Given the description of an element on the screen output the (x, y) to click on. 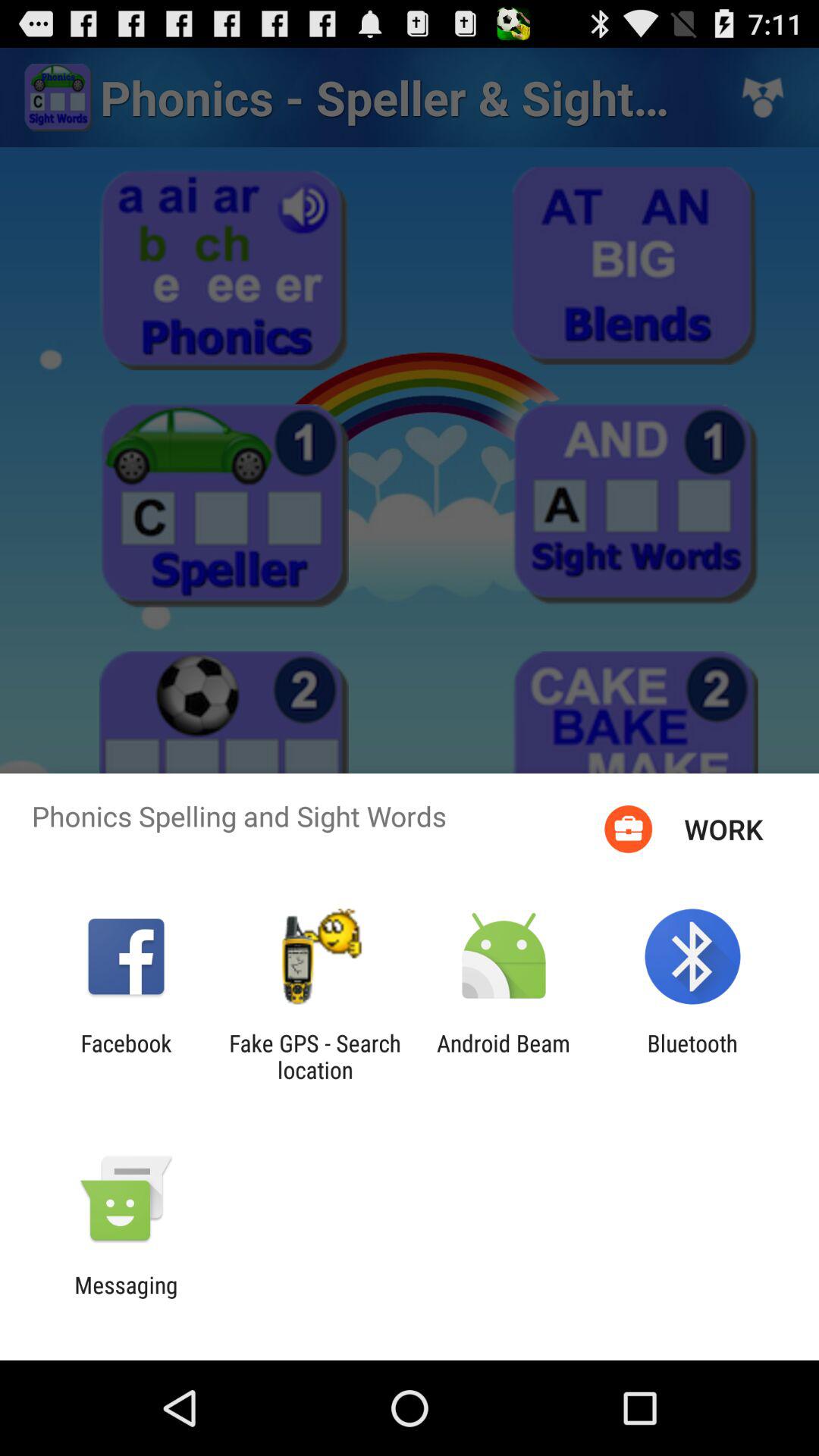
select facebook item (125, 1056)
